Given the description of an element on the screen output the (x, y) to click on. 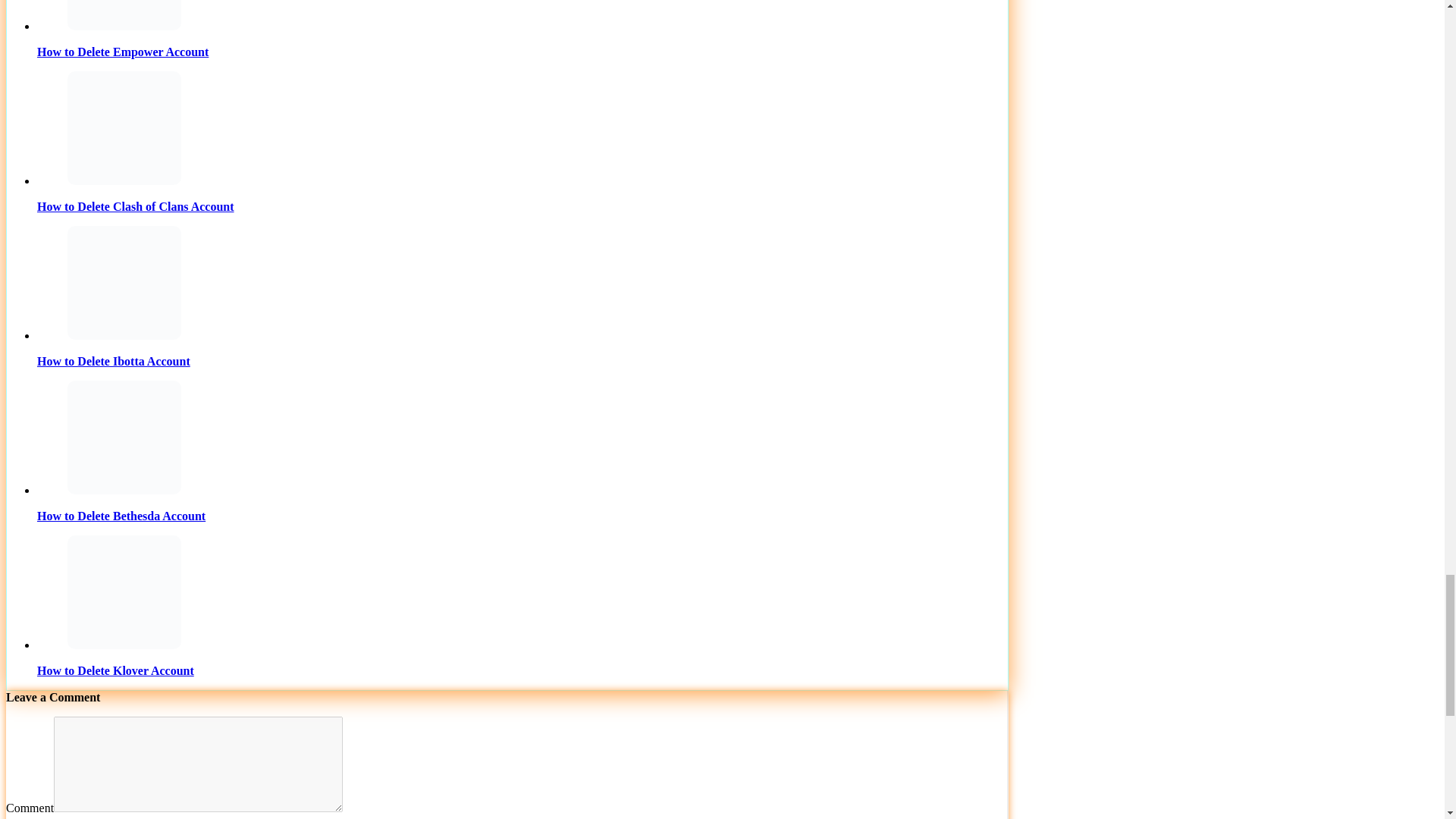
How to Delete Bethesda Account (123, 437)
How to Delete Ibotta Account (123, 282)
How to Delete Empower Account (123, 15)
How to Delete Clash of Clans Account (123, 128)
How to Delete Empower Account (522, 29)
